Given the description of an element on the screen output the (x, y) to click on. 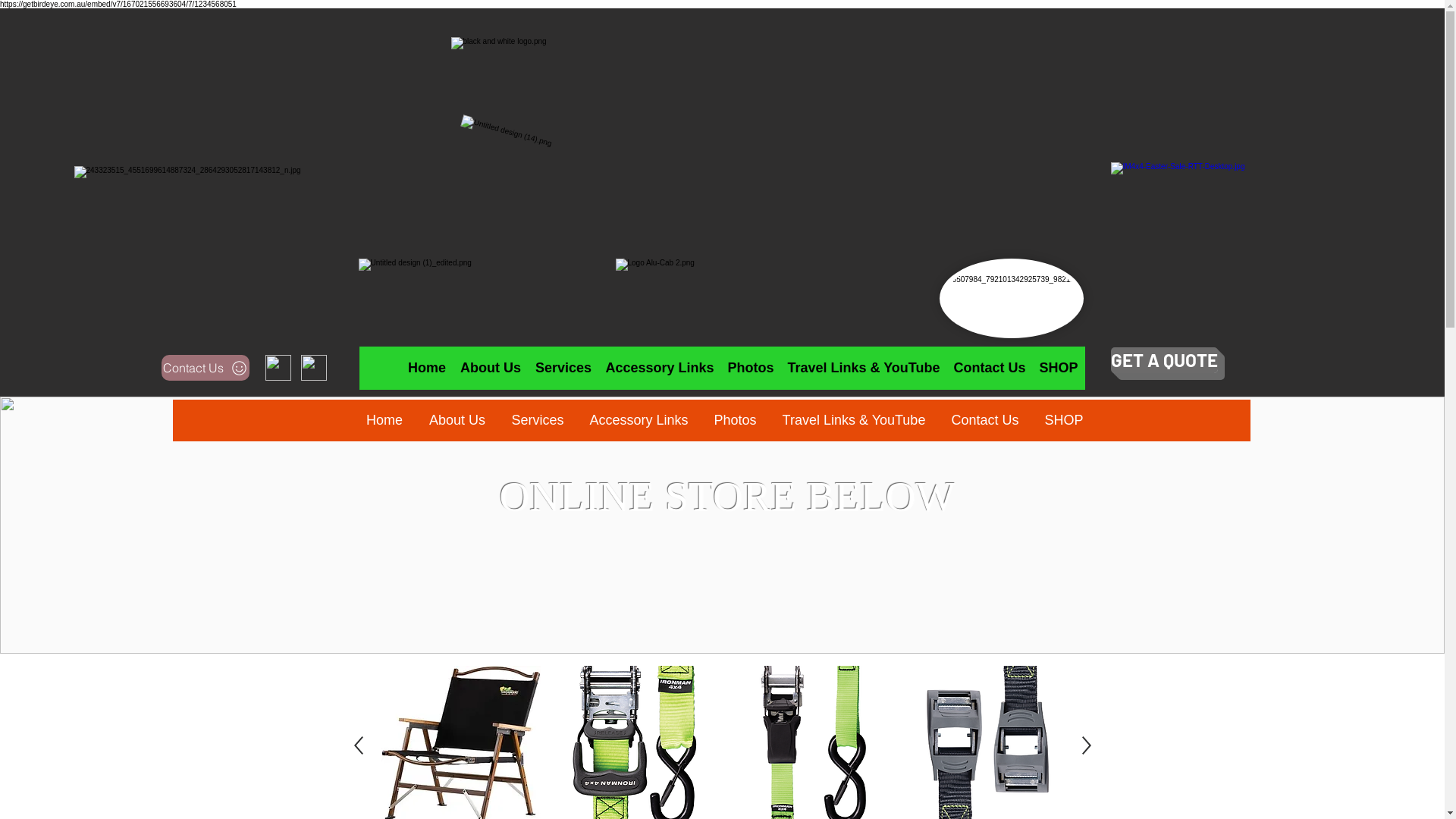
Home Element type: text (426, 367)
Contact Us Element type: text (985, 420)
Travel Links & YouTube Element type: text (853, 420)
Photos Element type: text (734, 420)
Accessory Links Element type: text (660, 367)
Home Element type: text (384, 420)
About Us Element type: text (493, 364)
347222296_1298519630742919_1698618593255 Element type: hover (1248, 230)
About Us Element type: text (490, 367)
Home Element type: text (439, 364)
SHOP Element type: text (1058, 367)
Travel Links & YouTube Element type: text (828, 364)
About Us Element type: text (456, 420)
SHOP Element type: text (1063, 420)
Contact Us Element type: text (204, 367)
GET A QUOTE Element type: text (1163, 360)
Photos Element type: text (724, 364)
Ultimate Campers.png Element type: hover (1010, 298)
Photos Element type: text (750, 367)
Accessory Links Element type: text (642, 364)
Contact Us Element type: text (944, 364)
SHOP Element type: text (1003, 364)
Services Element type: text (556, 364)
Accessory Links Element type: text (638, 420)
Services Element type: text (537, 420)
Services Element type: text (562, 367)
Contact Us Element type: text (989, 367)
Travel Links & YouTube Element type: text (864, 367)
